Given the description of an element on the screen output the (x, y) to click on. 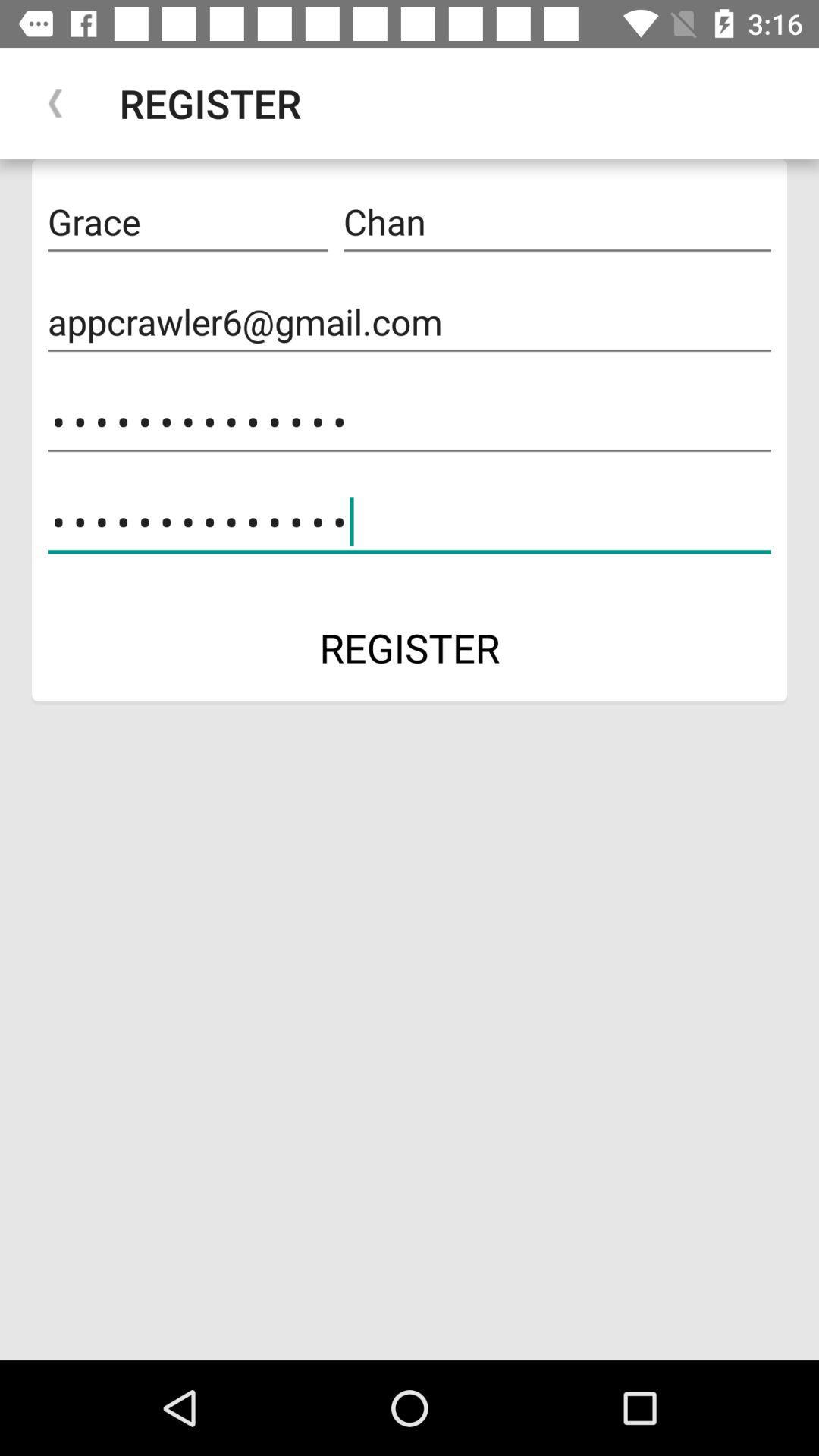
launch the item above grace (55, 103)
